Given the description of an element on the screen output the (x, y) to click on. 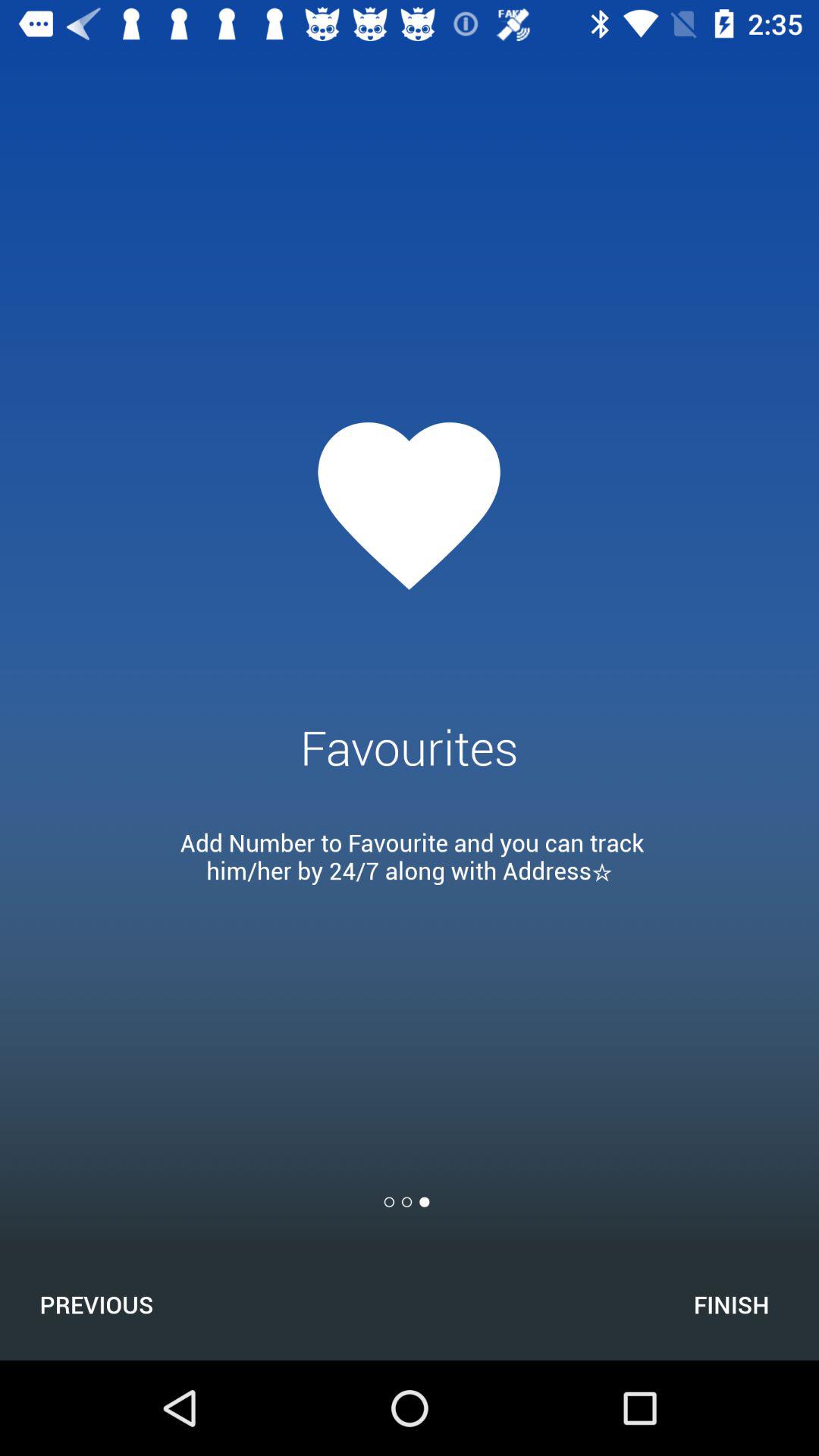
open the finish (731, 1304)
